Given the description of an element on the screen output the (x, y) to click on. 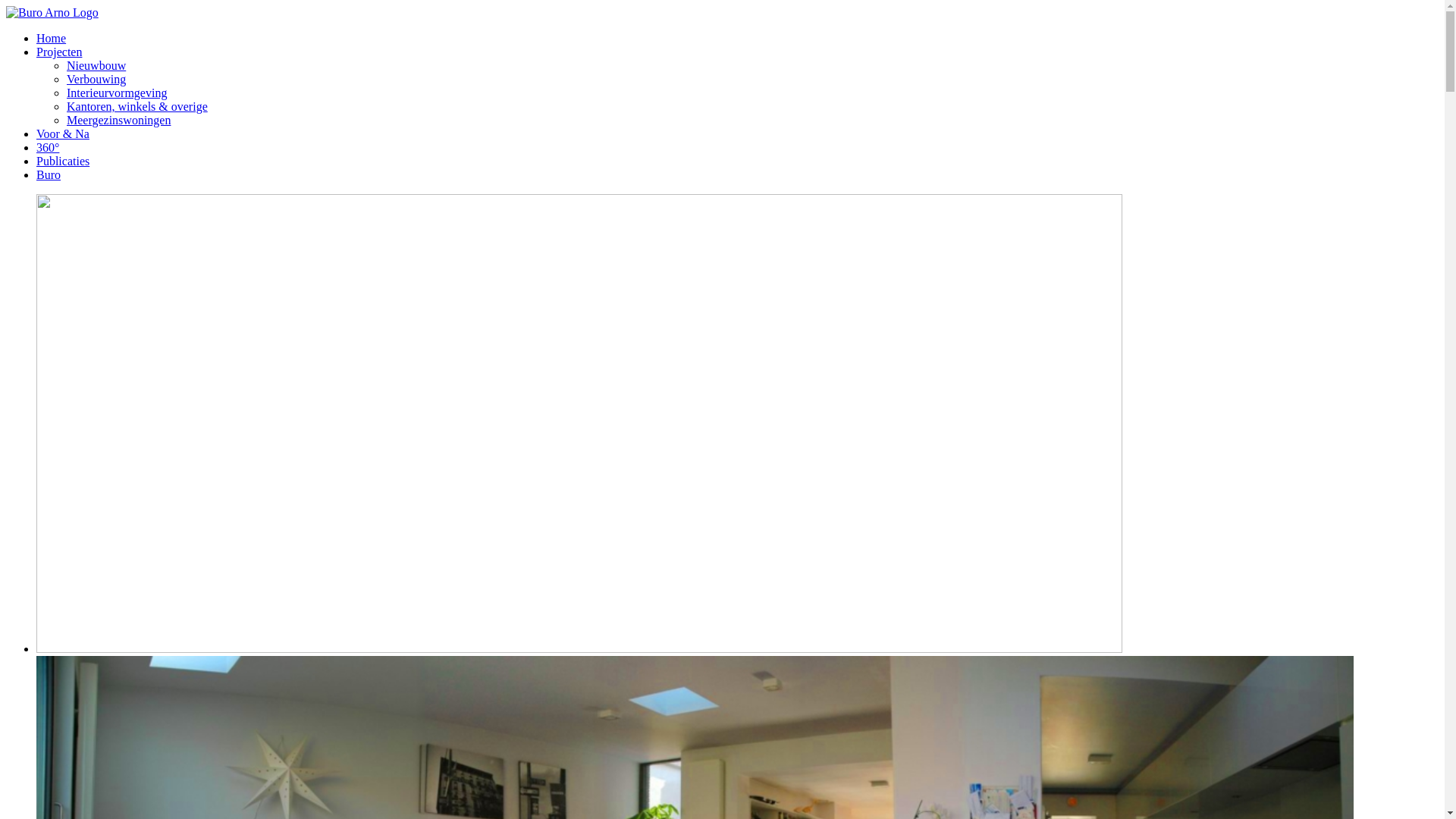
Buro Element type: text (48, 174)
Skip to content Element type: text (5, 5)
View Larger Image Element type: text (579, 648)
Projecten Element type: text (58, 51)
Nieuwbouw Element type: text (95, 65)
Interieurvormgeving Element type: text (116, 92)
Meergezinswoningen Element type: text (118, 119)
Publicaties Element type: text (62, 160)
Verbouwing Element type: text (95, 78)
Kantoren, winkels & overige Element type: text (136, 106)
Voor & Na Element type: text (62, 133)
Home Element type: text (50, 37)
